Given the description of an element on the screen output the (x, y) to click on. 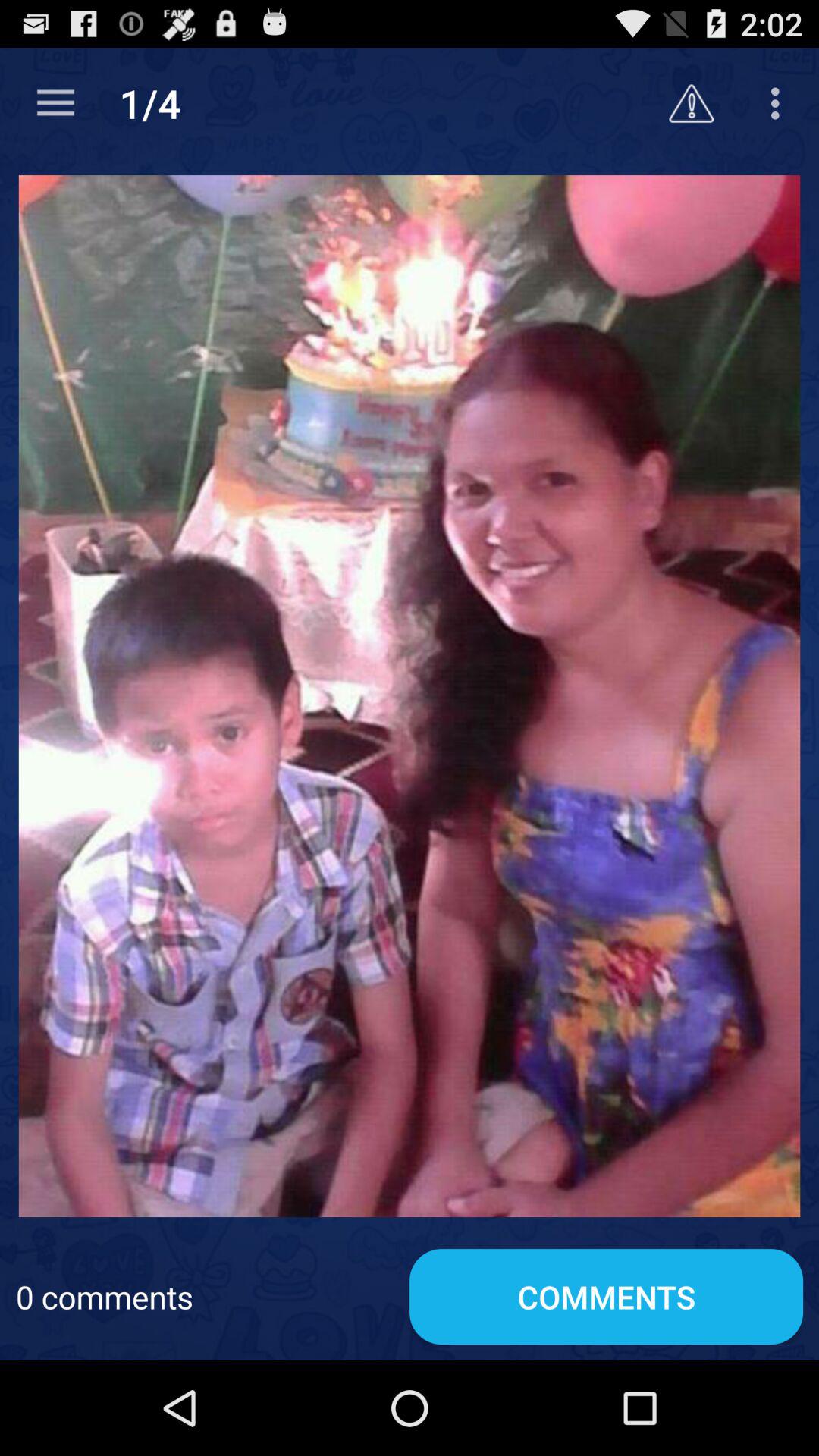
launch the icon above the comments icon (409, 696)
